Given the description of an element on the screen output the (x, y) to click on. 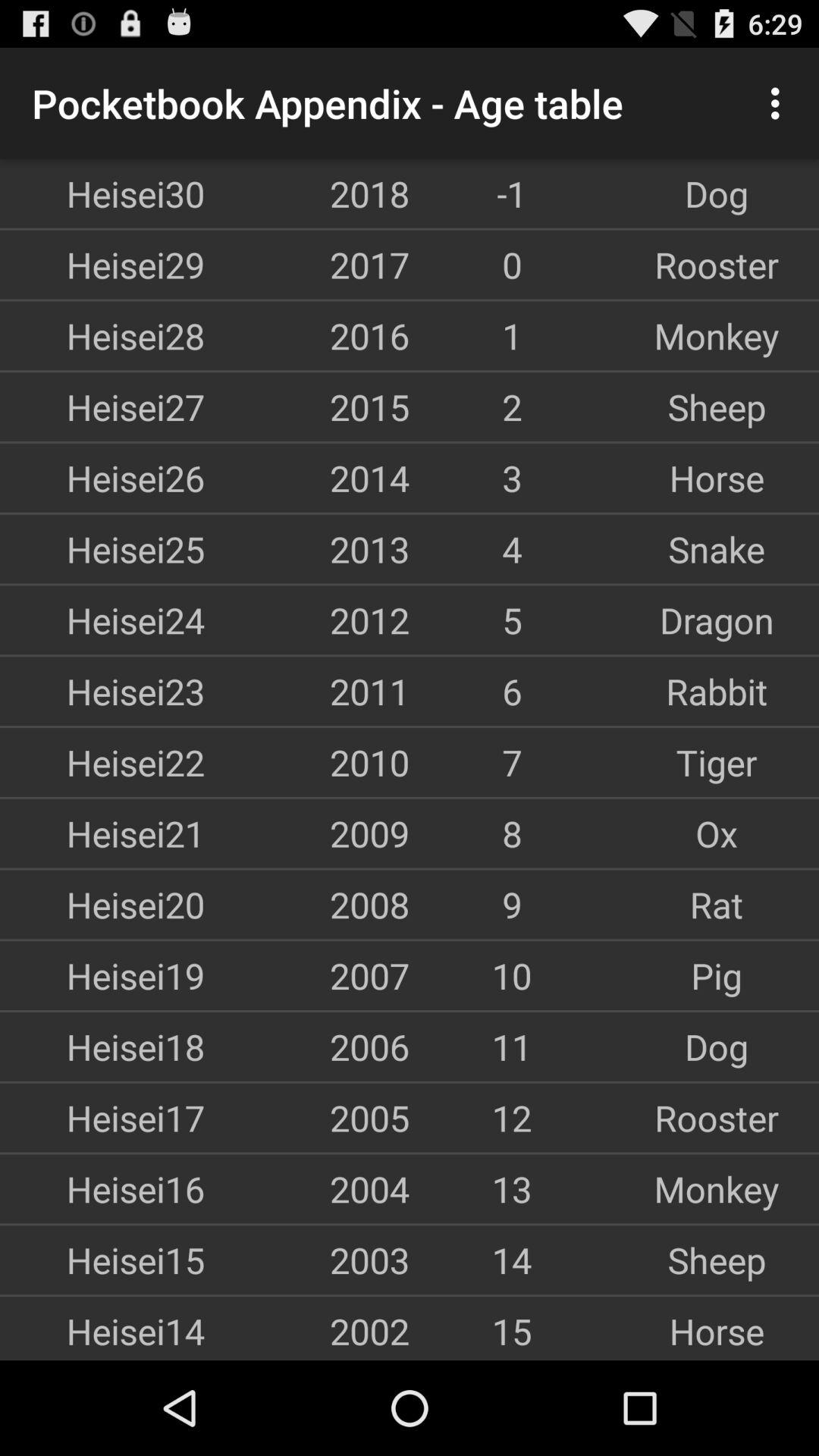
click the app above heisei21 (102, 762)
